Given the description of an element on the screen output the (x, y) to click on. 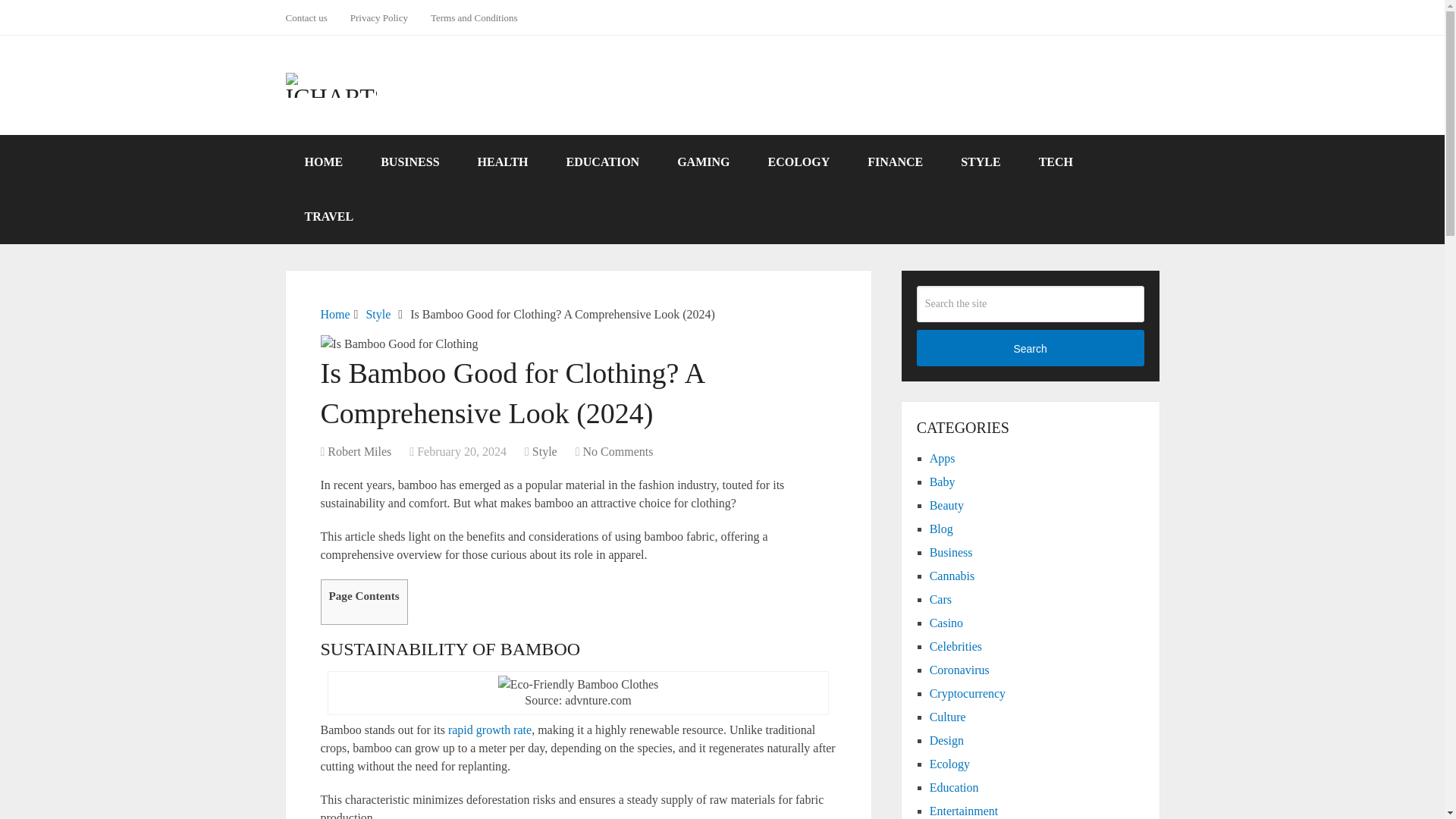
FINANCE (895, 162)
Beauty (946, 504)
Posts by Robert Miles (359, 451)
Terms and Conditions (474, 17)
Robert Miles (359, 451)
STYLE (980, 162)
Blog (941, 528)
TRAVEL (328, 216)
Cannabis (952, 575)
No Comments (618, 451)
HOME (323, 162)
Privacy Policy (379, 17)
Cars (941, 599)
EDUCATION (603, 162)
Business (951, 552)
